Given the description of an element on the screen output the (x, y) to click on. 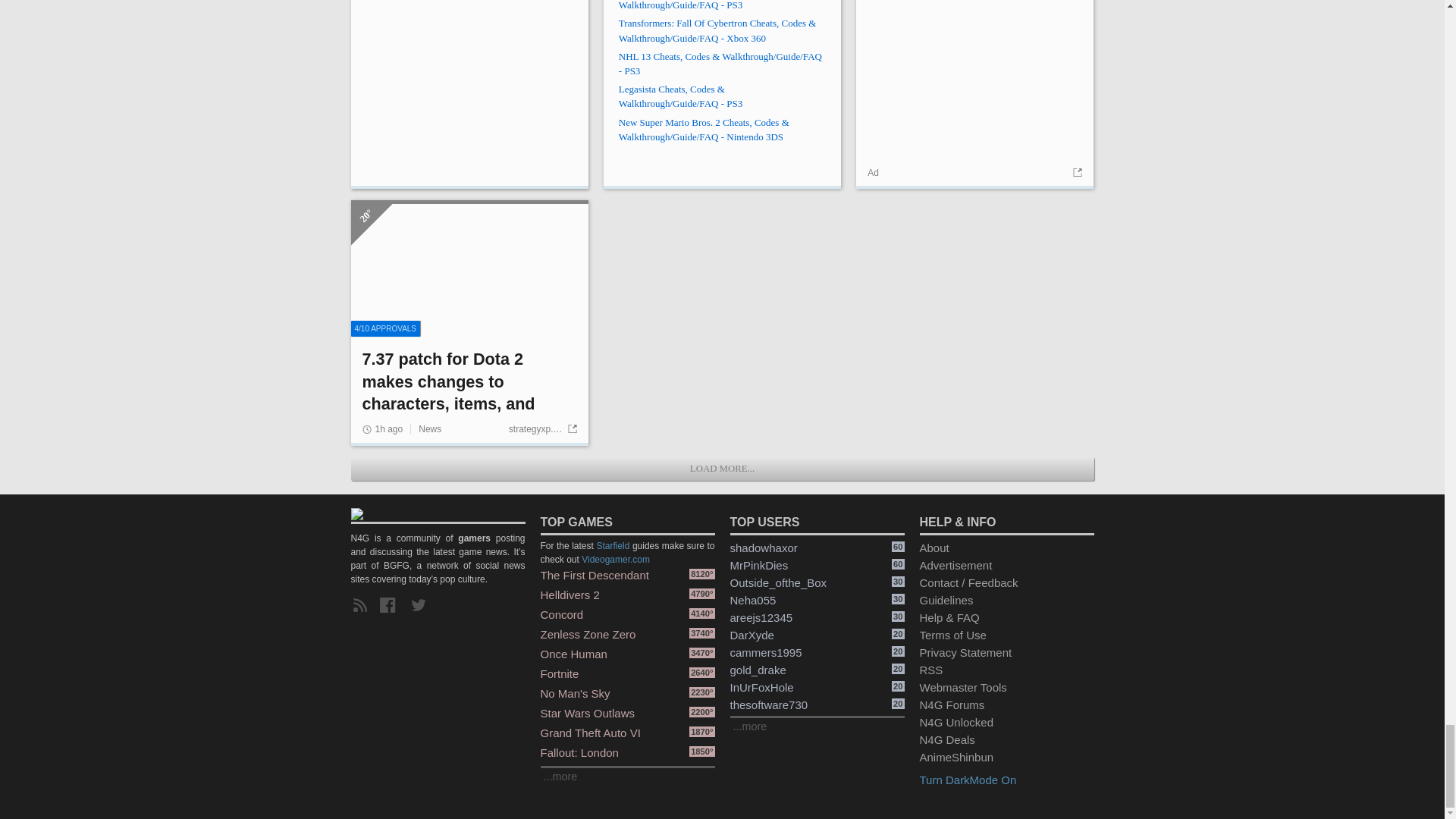
Go to source: strategyxp.com (542, 429)
Our twitter page (421, 605)
Go to source (1074, 172)
Our facebook page (390, 605)
RSS Feed (362, 605)
